Given the description of an element on the screen output the (x, y) to click on. 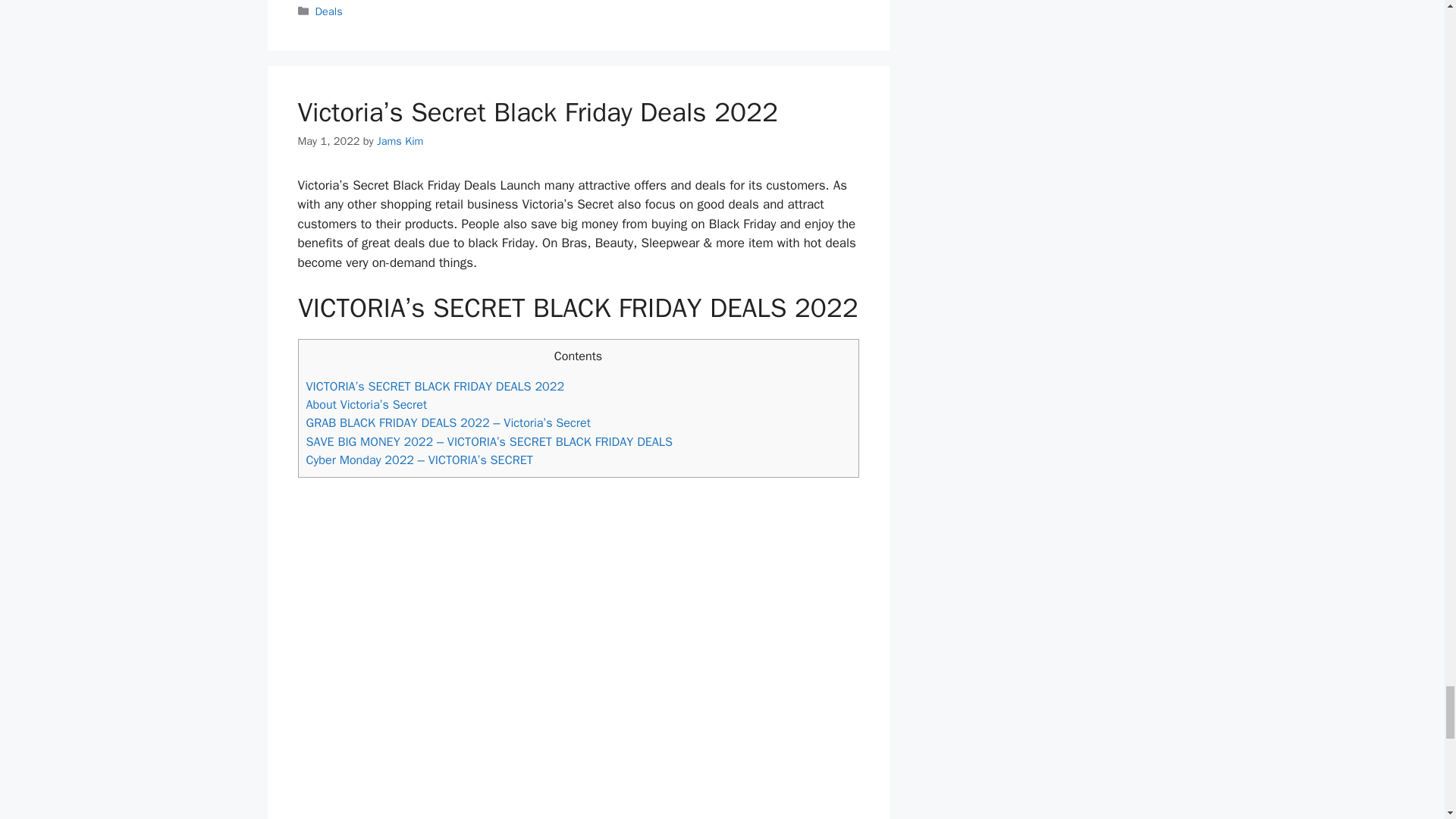
View all posts by Jams Kim (400, 141)
